Given the description of an element on the screen output the (x, y) to click on. 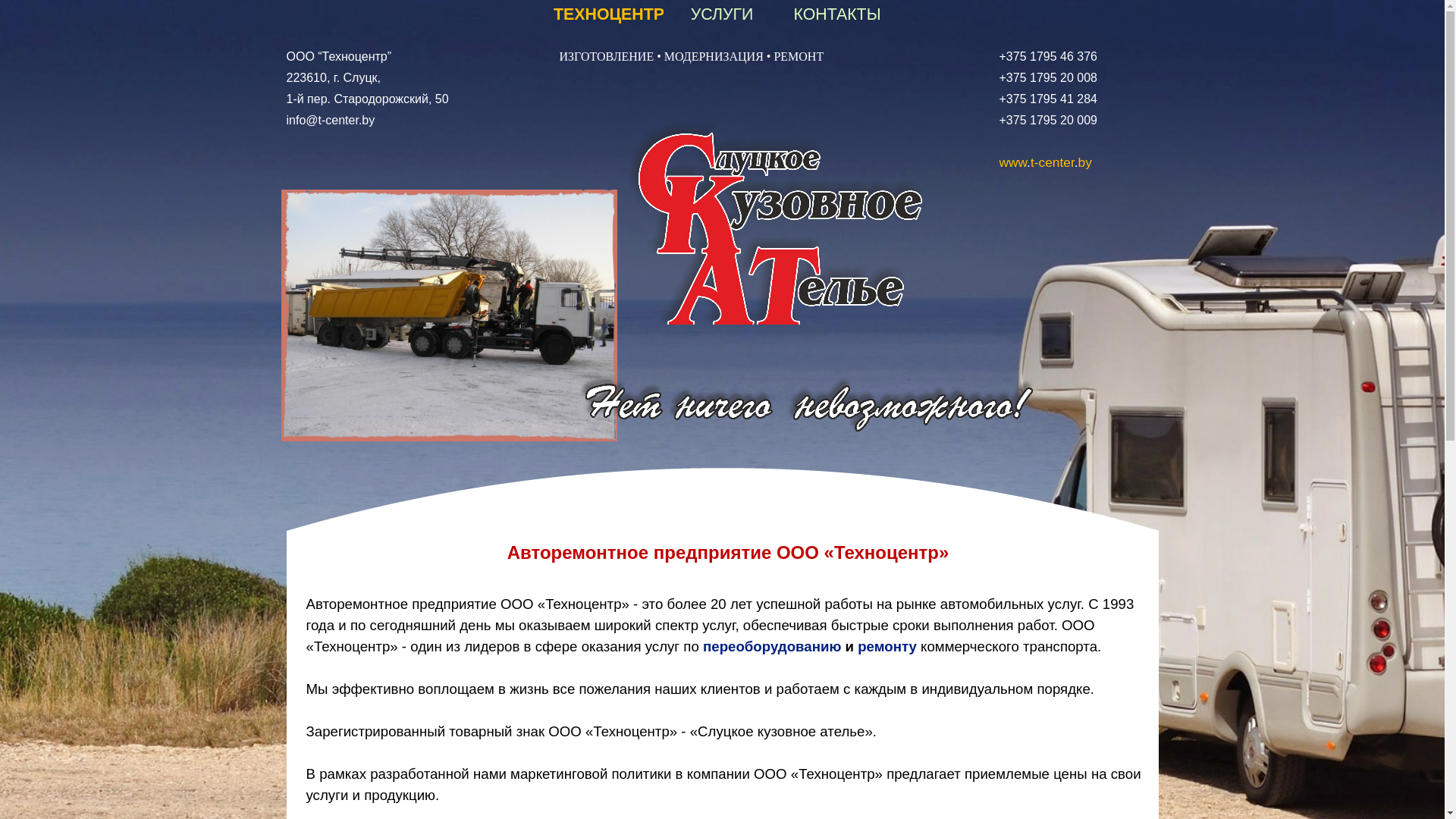
www.t-center.by Element type: text (1045, 161)
